Given the description of an element on the screen output the (x, y) to click on. 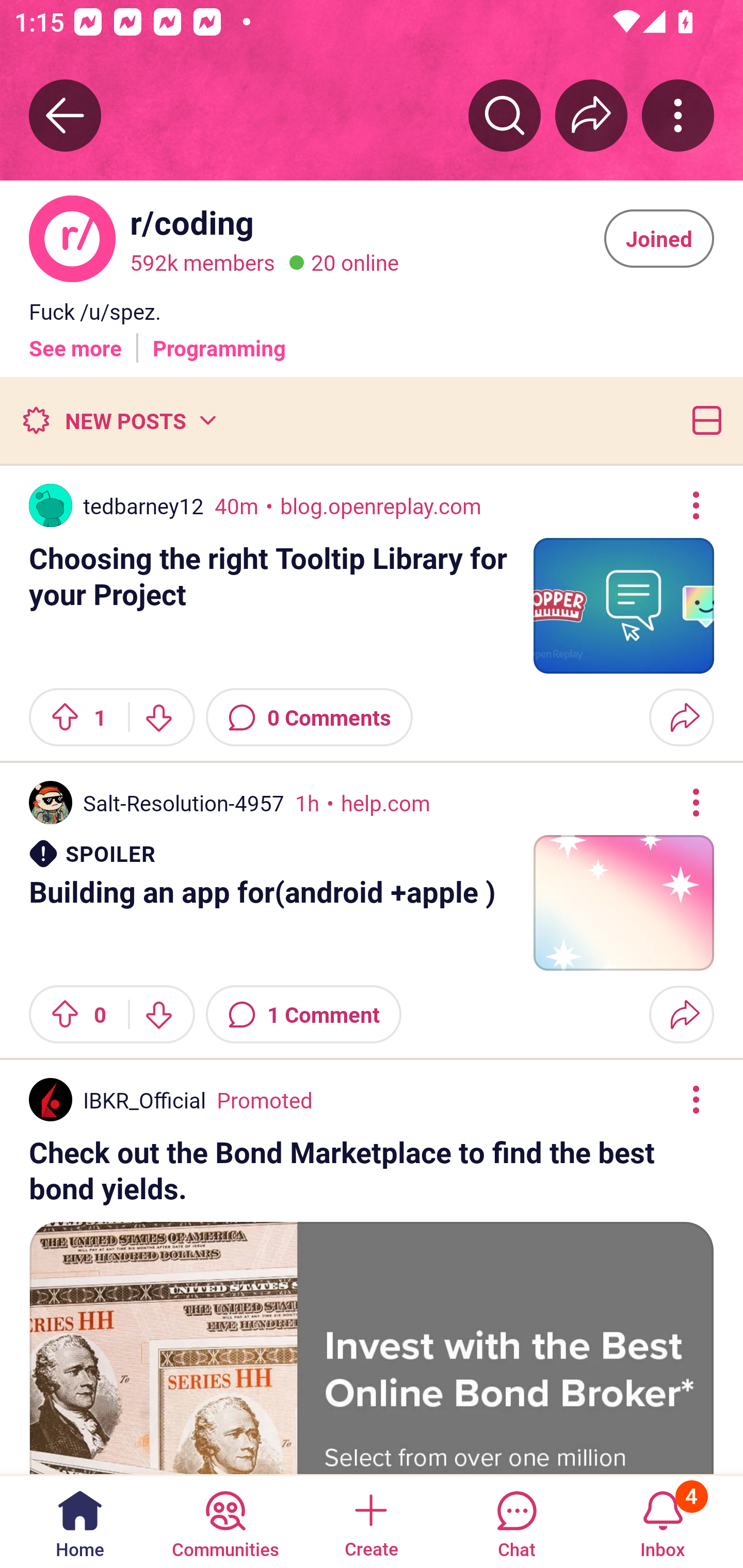
Back (64, 115)
Search r/﻿coding (504, 115)
Share r/﻿coding (591, 115)
More community actions (677, 115)
See more (74, 340)
Programming (219, 340)
New posts NEW POSTS (118, 420)
Card (703, 420)
Home (80, 1520)
Communities (225, 1520)
Create a post Create (370, 1520)
Chat (516, 1520)
Inbox, has 4 notifications 4 Inbox (662, 1520)
